Given the description of an element on the screen output the (x, y) to click on. 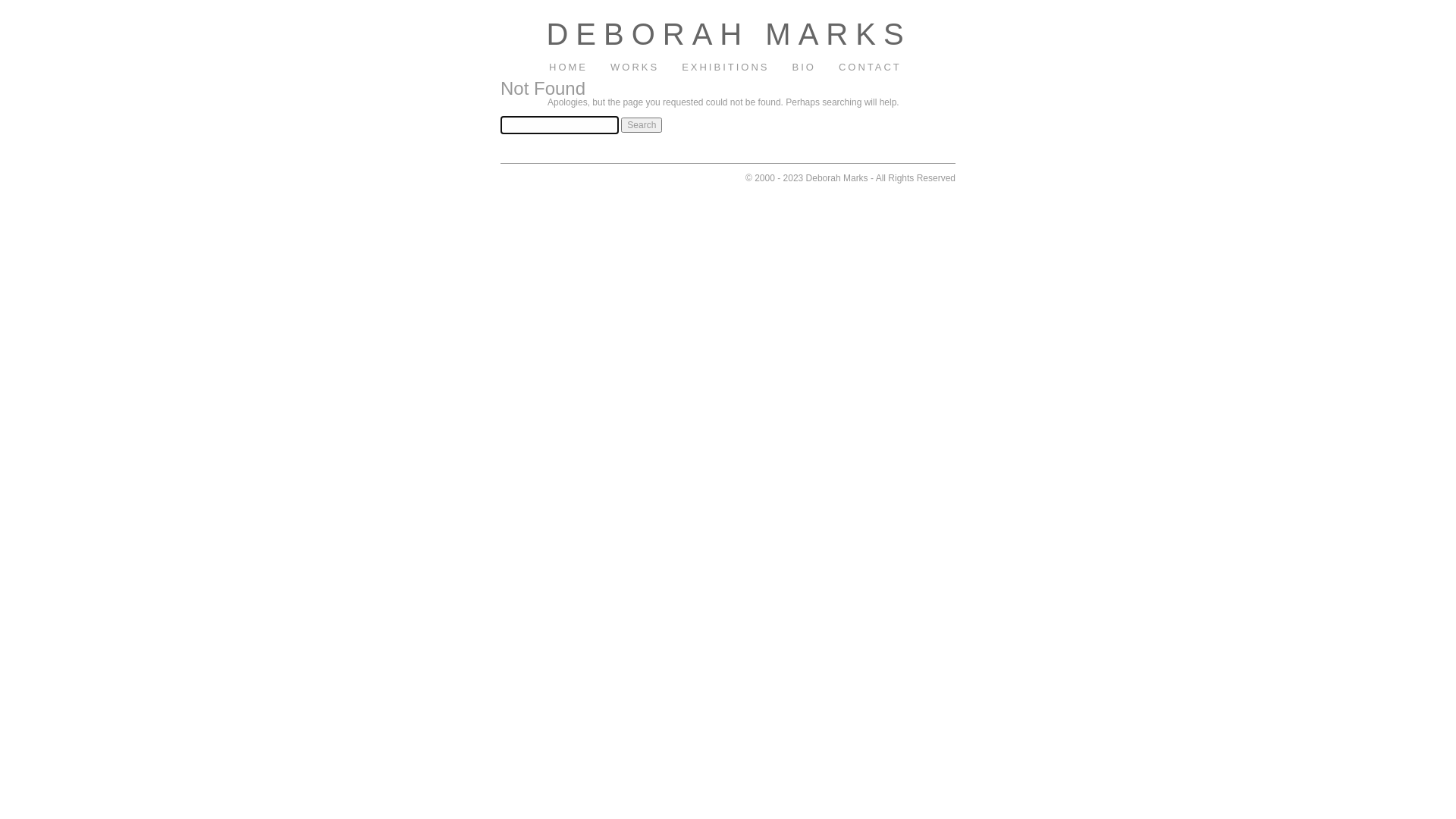
HOME Element type: text (568, 67)
WORKS Element type: text (634, 67)
BIO Element type: text (803, 67)
EXHIBITIONS Element type: text (725, 67)
CONTACT Element type: text (870, 67)
DEBORAH MARKS Element type: text (728, 33)
Search Element type: text (641, 124)
